Given the description of an element on the screen output the (x, y) to click on. 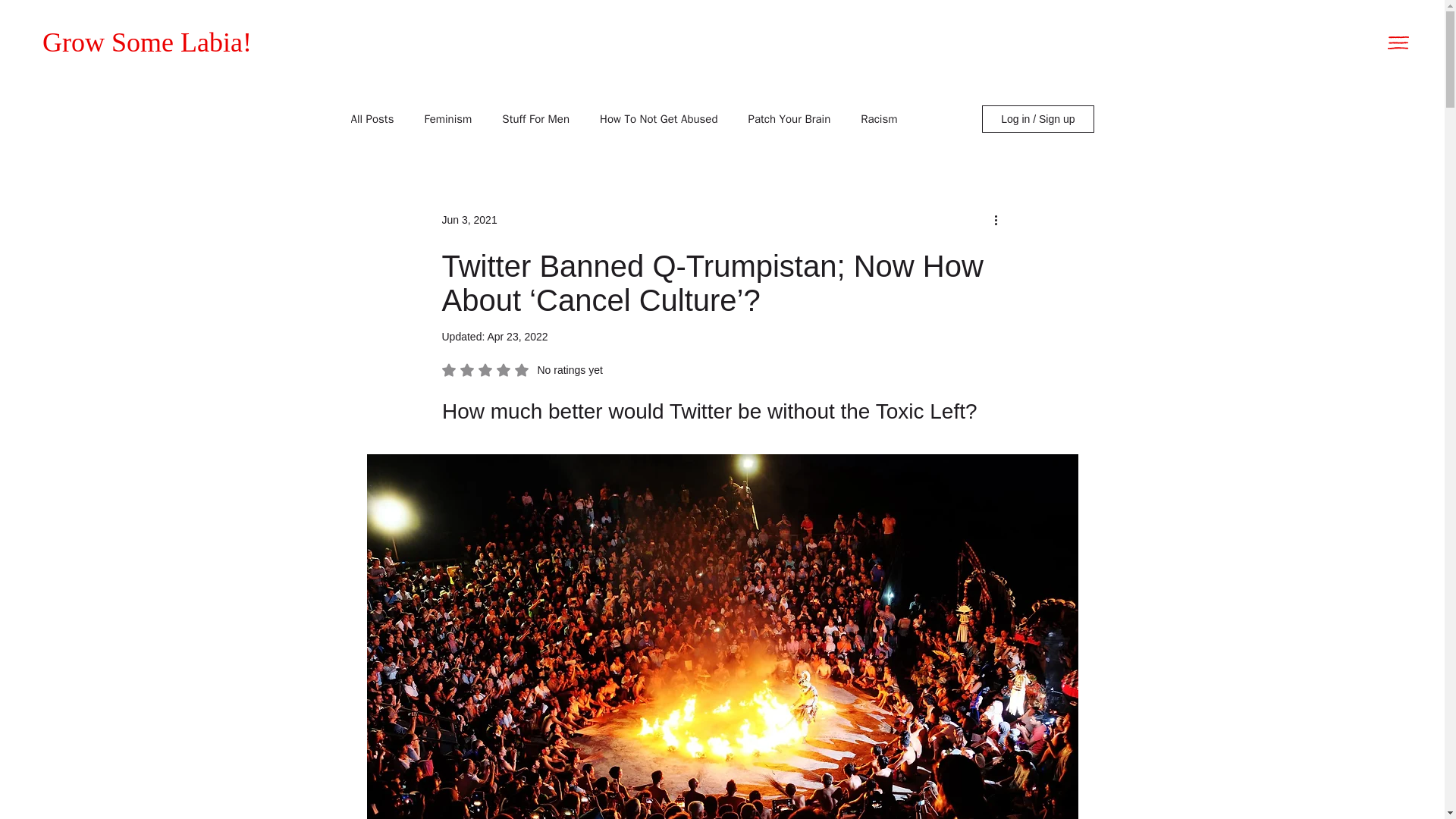
All Posts (371, 119)
Apr 23, 2022 (516, 336)
Feminism (447, 119)
Jun 3, 2021 (468, 219)
Stuff For Men (535, 119)
Patch Your Brain (789, 119)
Grow Some Labia! (146, 42)
How To Not Get Abused (521, 369)
Racism (658, 119)
